Given the description of an element on the screen output the (x, y) to click on. 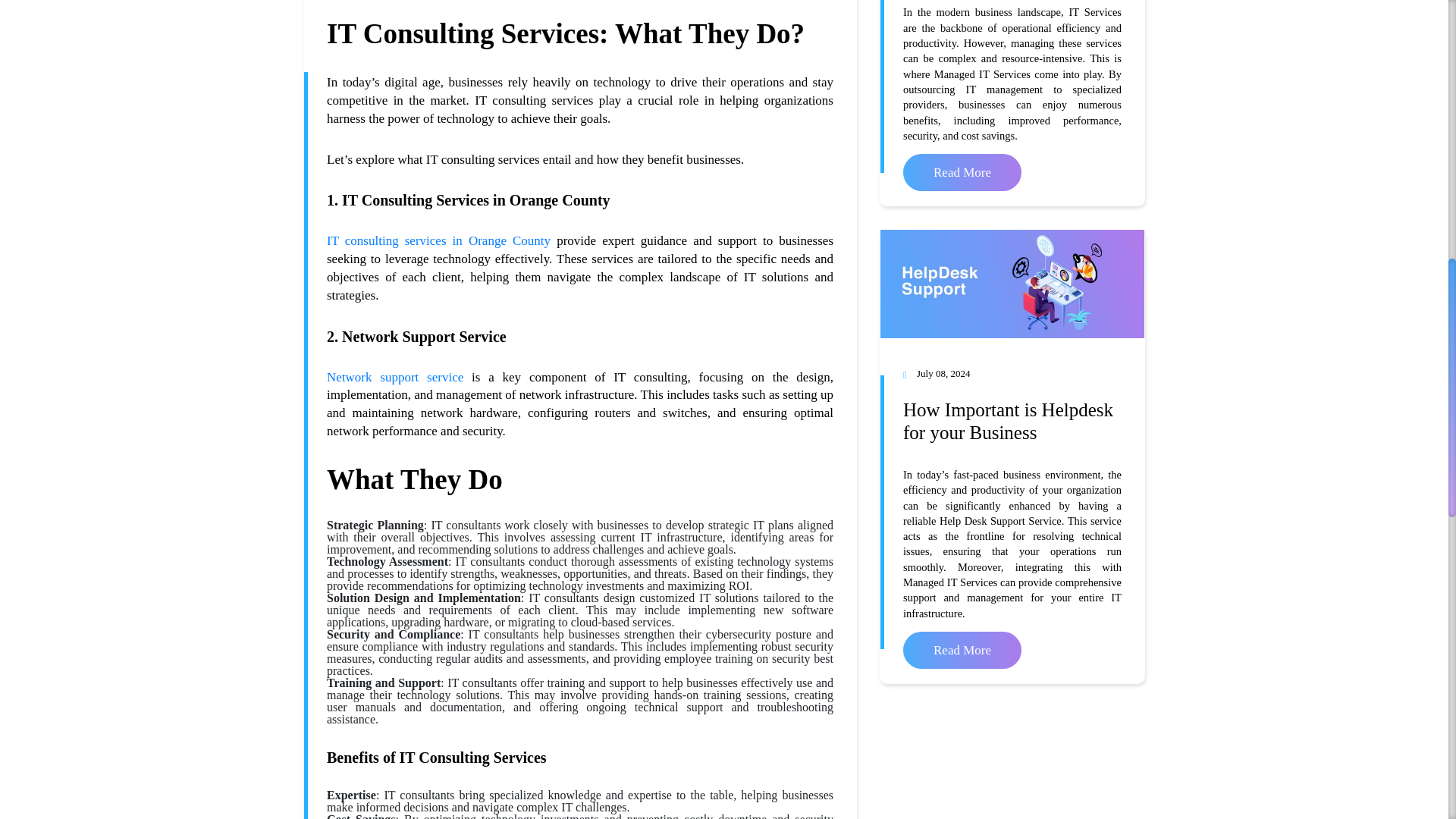
Network support service (394, 377)
Read More (962, 650)
IT consulting services in Orange County (438, 240)
Read More (962, 171)
